Given the description of an element on the screen output the (x, y) to click on. 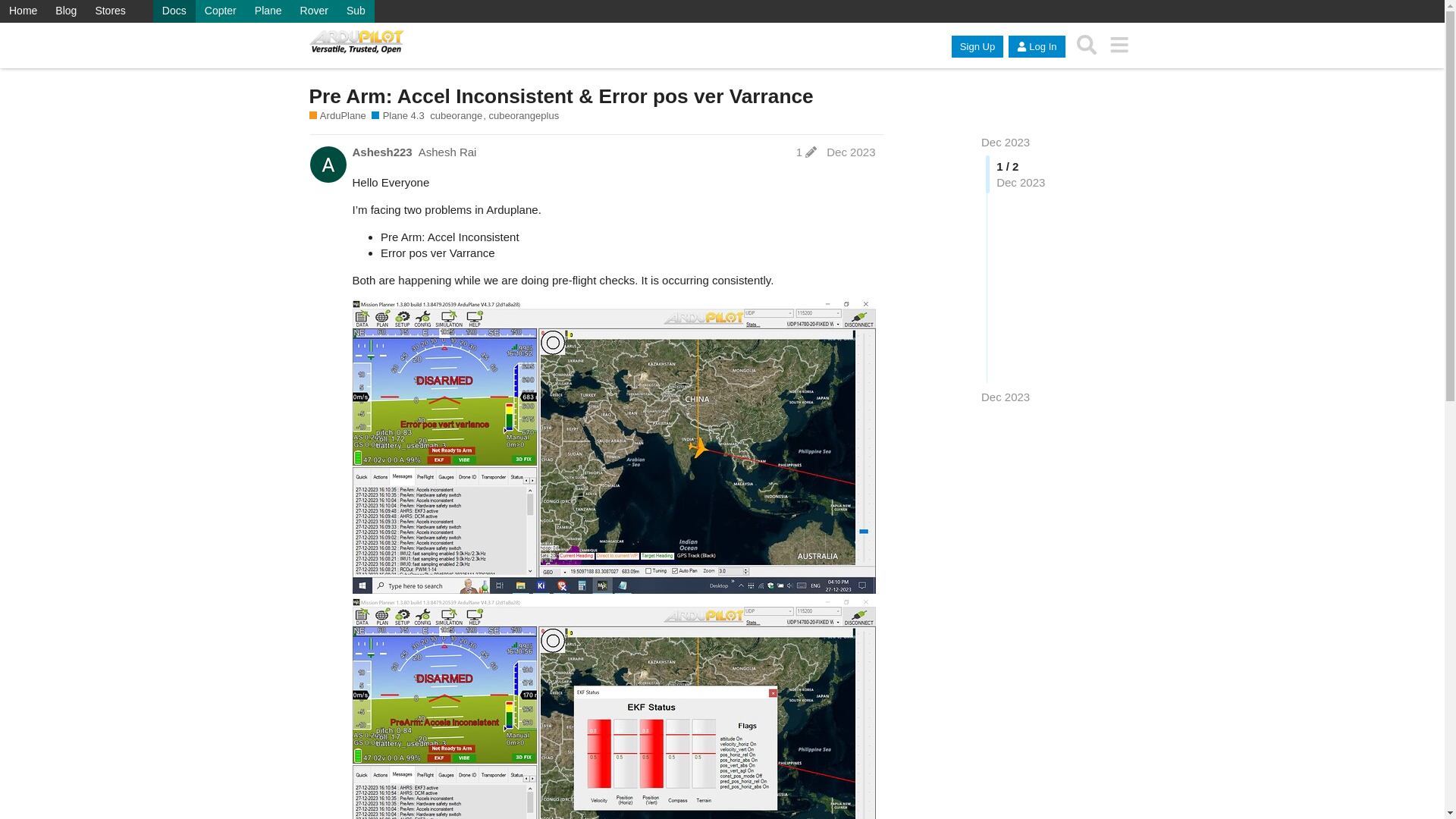
Dec 2023 (1005, 396)
cubeorangeplus (523, 115)
Blog (65, 11)
Plane 4.3 (397, 115)
1 (806, 151)
Ashesh Rai (448, 151)
Sign Up (977, 46)
menu (1119, 44)
Docs (173, 11)
Plane software and configuration user support discussion (337, 115)
